Given the description of an element on the screen output the (x, y) to click on. 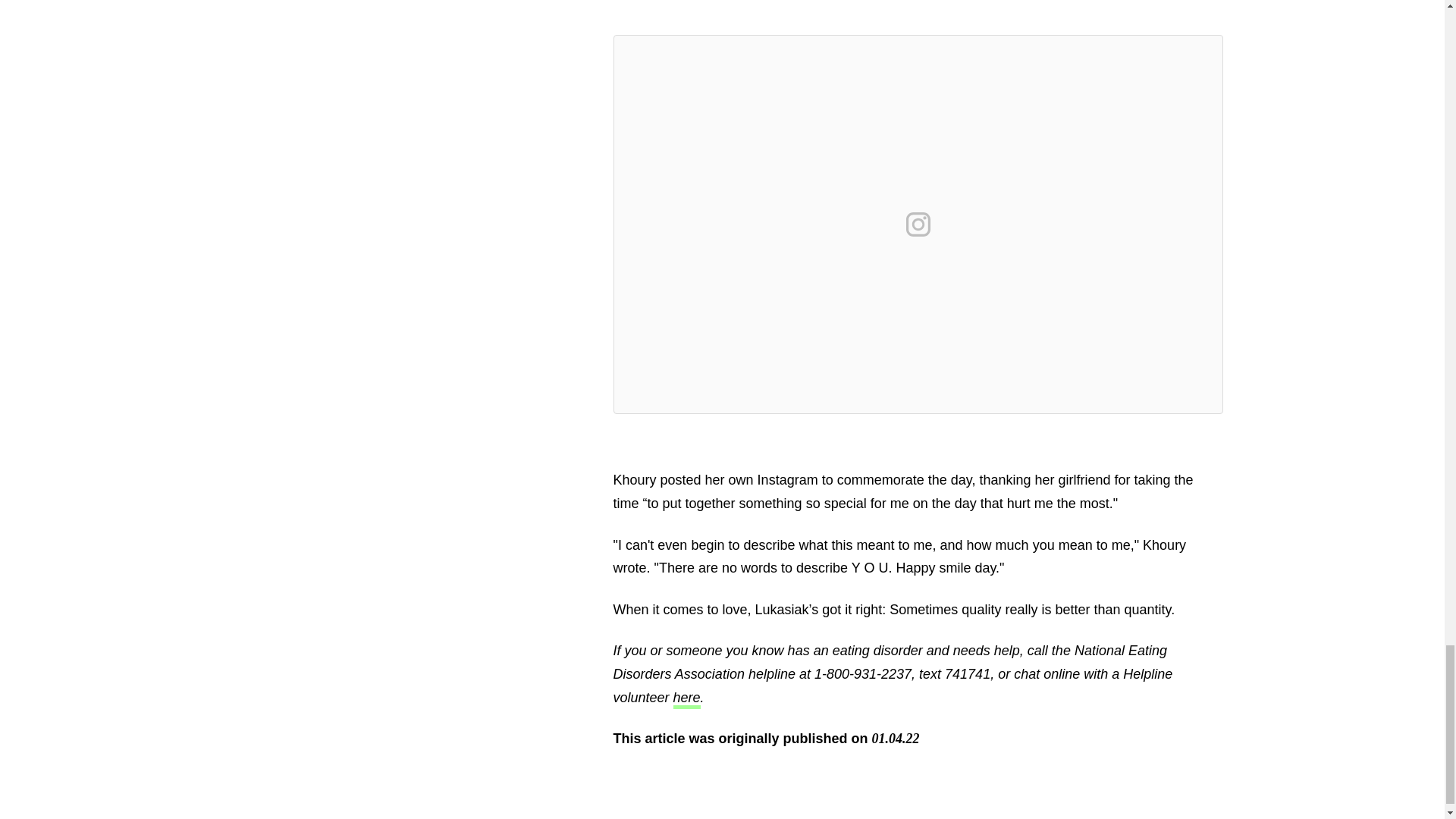
View on Instagram (917, 224)
here (686, 699)
